Given the description of an element on the screen output the (x, y) to click on. 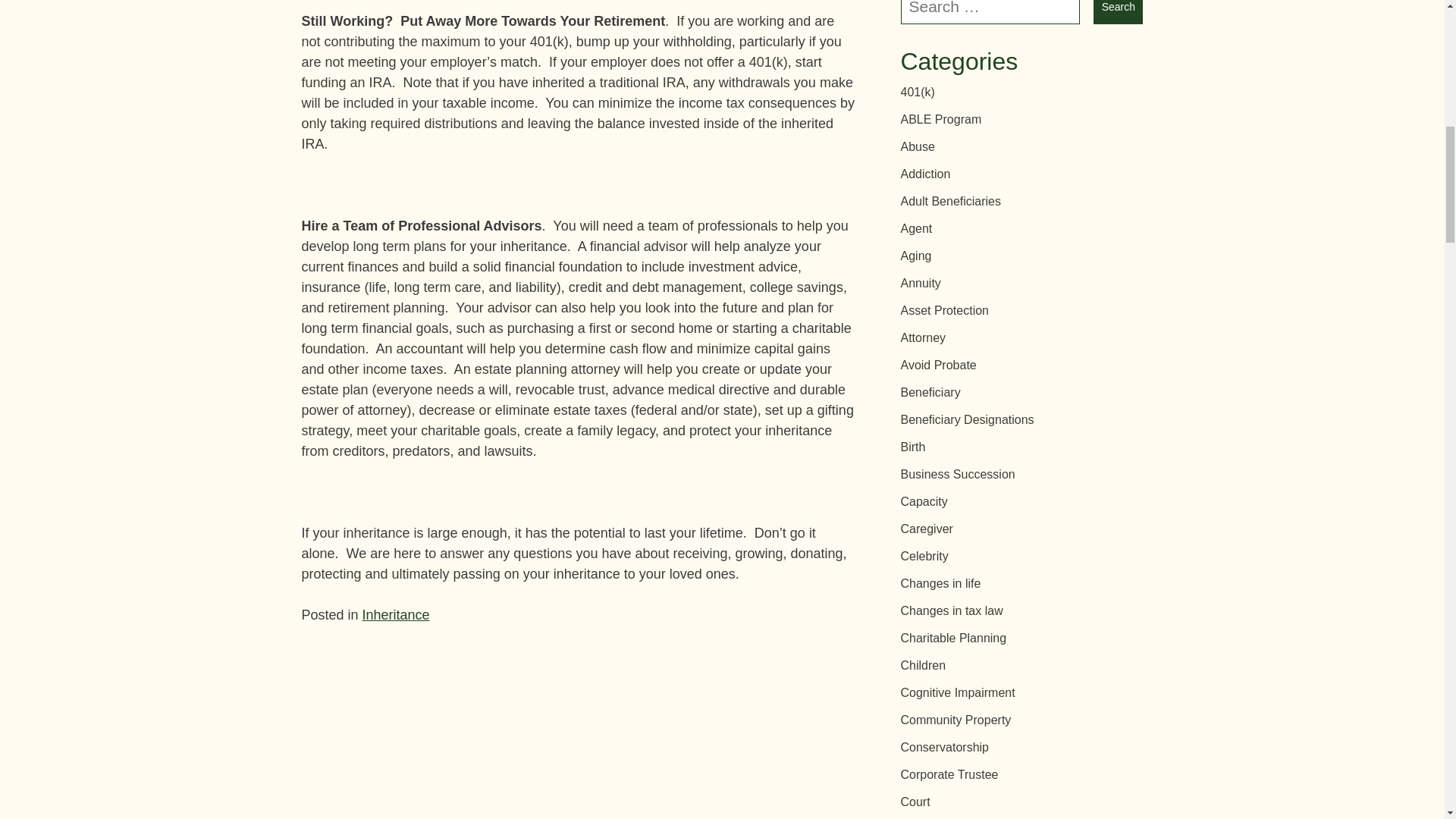
Adult Beneficiaries (951, 201)
Search (1117, 12)
Aging (916, 255)
Addiction (925, 173)
Search (1117, 12)
Inheritance (395, 614)
ABLE Program (941, 119)
Abuse (917, 146)
Agent (917, 228)
Search for: (990, 12)
